Given the description of an element on the screen output the (x, y) to click on. 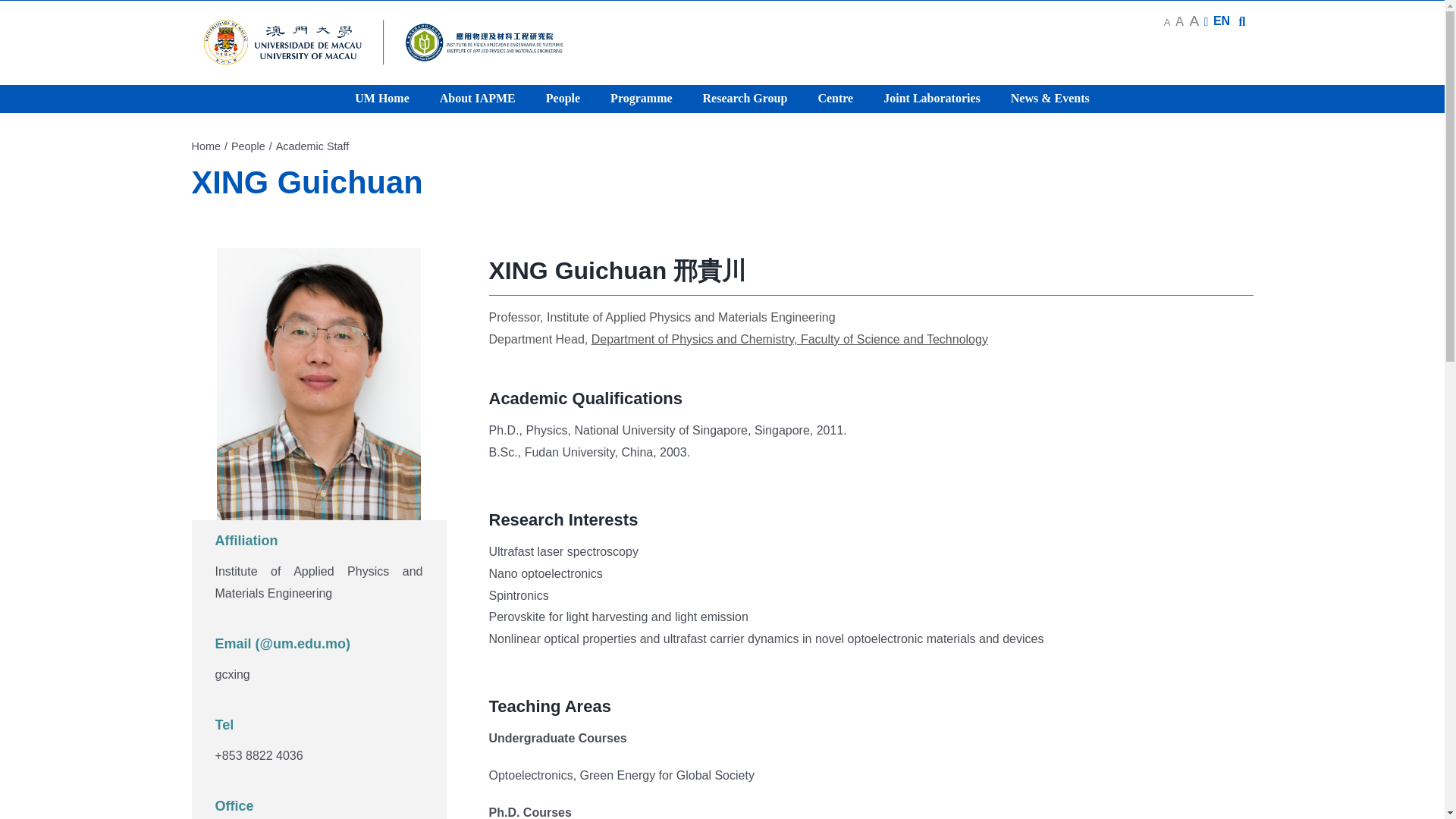
EN (1221, 20)
Joint Laboratories (931, 98)
People (563, 98)
UM Home (382, 98)
About IAPME (478, 98)
Programme (641, 98)
Research Group (745, 98)
Centre (834, 98)
